Given the description of an element on the screen output the (x, y) to click on. 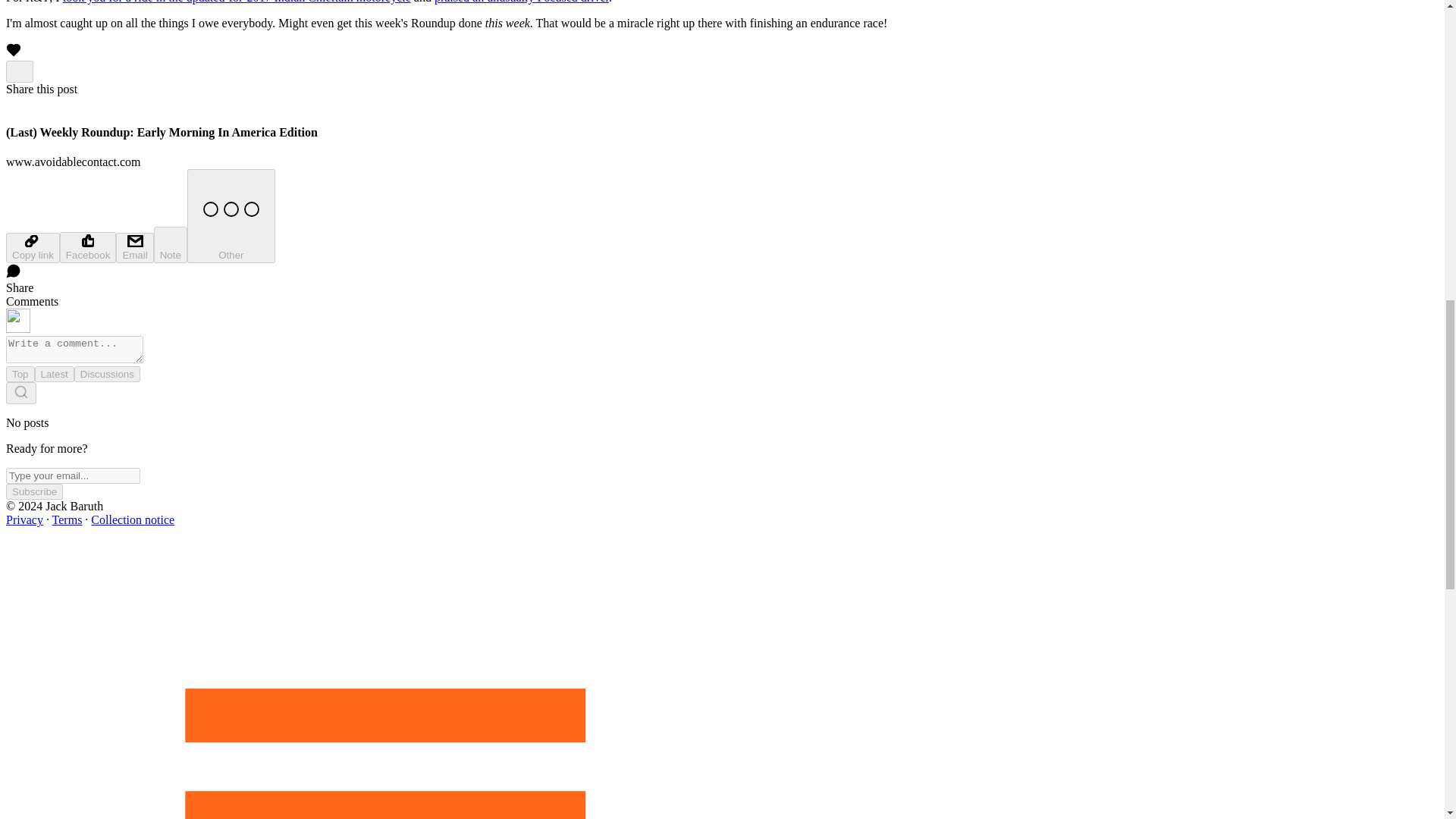
Email (134, 247)
Top (19, 374)
praised an unusually Focused driver (520, 2)
Copy link (32, 247)
Note (170, 244)
Other (231, 215)
Facebook (87, 246)
